Given the description of an element on the screen output the (x, y) to click on. 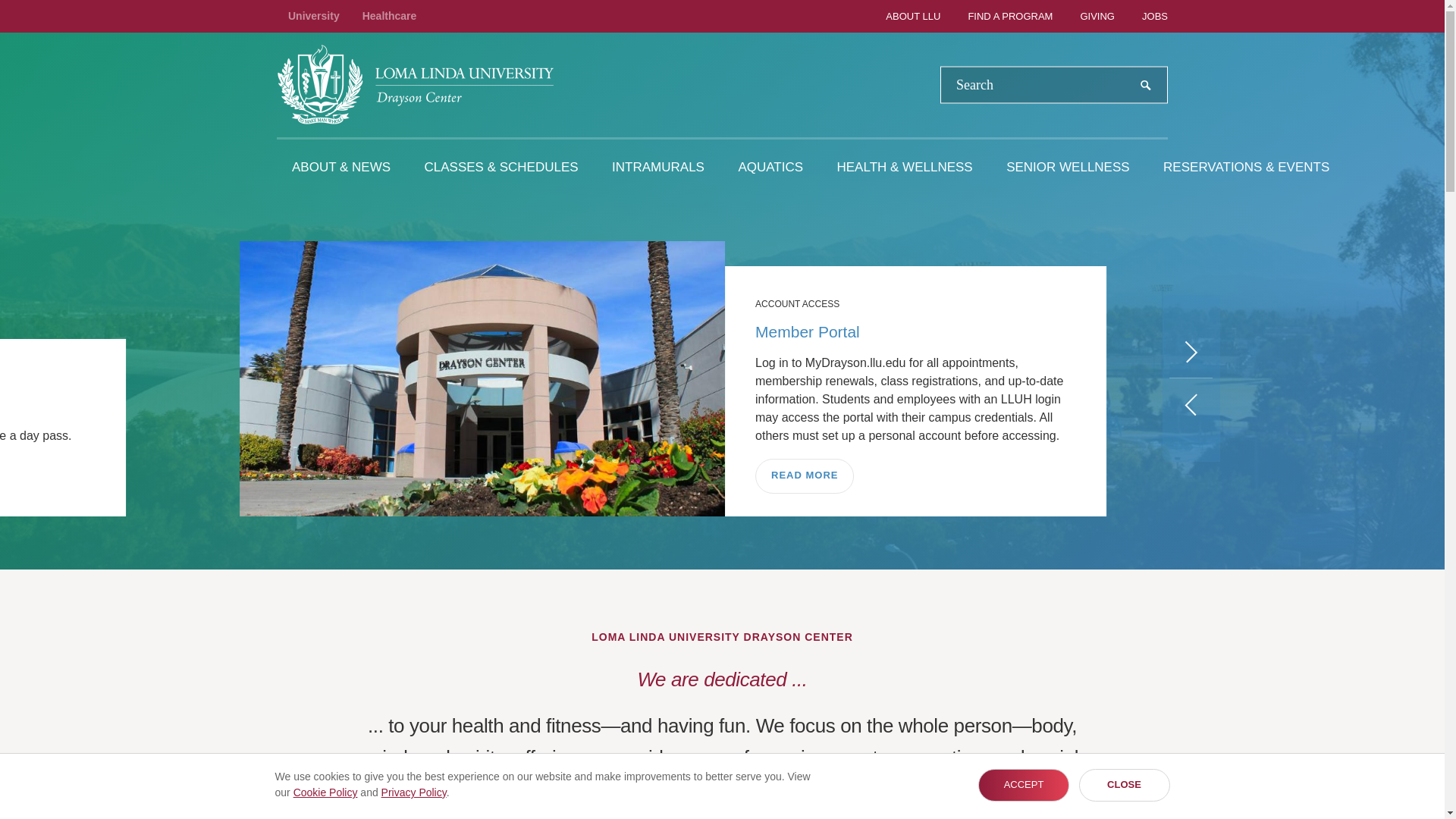
FIND A PROGRAM (997, 16)
GIVING (1086, 16)
University (313, 15)
submit (1145, 85)
SENIOR WELLNESS (1067, 167)
AQUATICS (770, 167)
Healthcare (389, 15)
ABOUT LLU (900, 16)
JOBS (1142, 16)
INTRAMURALS (657, 167)
submit (1145, 85)
READ MORE (804, 475)
